Given the description of an element on the screen output the (x, y) to click on. 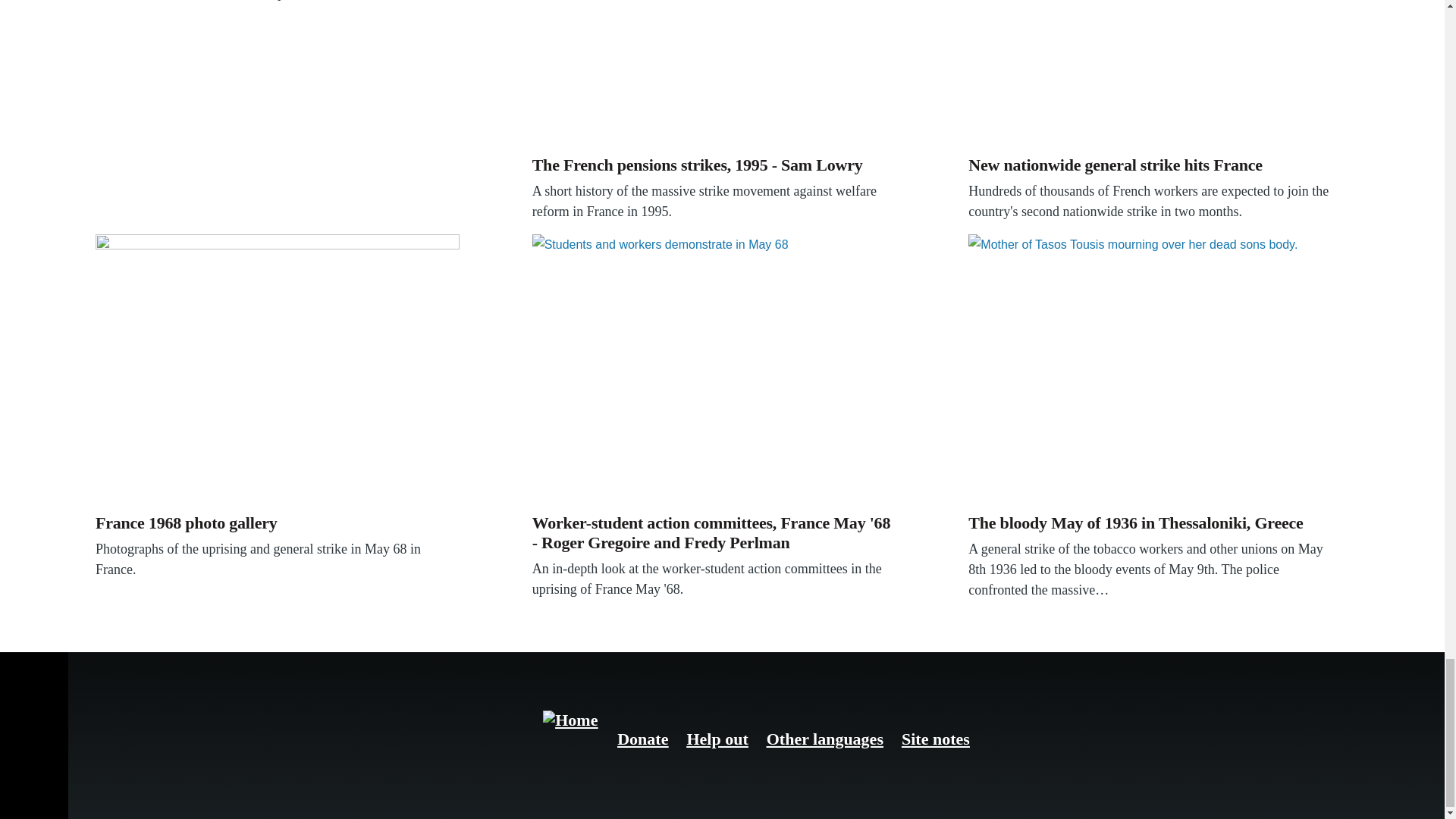
Donate (642, 738)
Other languages (825, 738)
libcom content in languages other than English (825, 738)
Site notes (935, 738)
Students and workers demonstrate in May 68 (714, 370)
Strikers in France (714, 74)
Help out (716, 738)
